Given the description of an element on the screen output the (x, y) to click on. 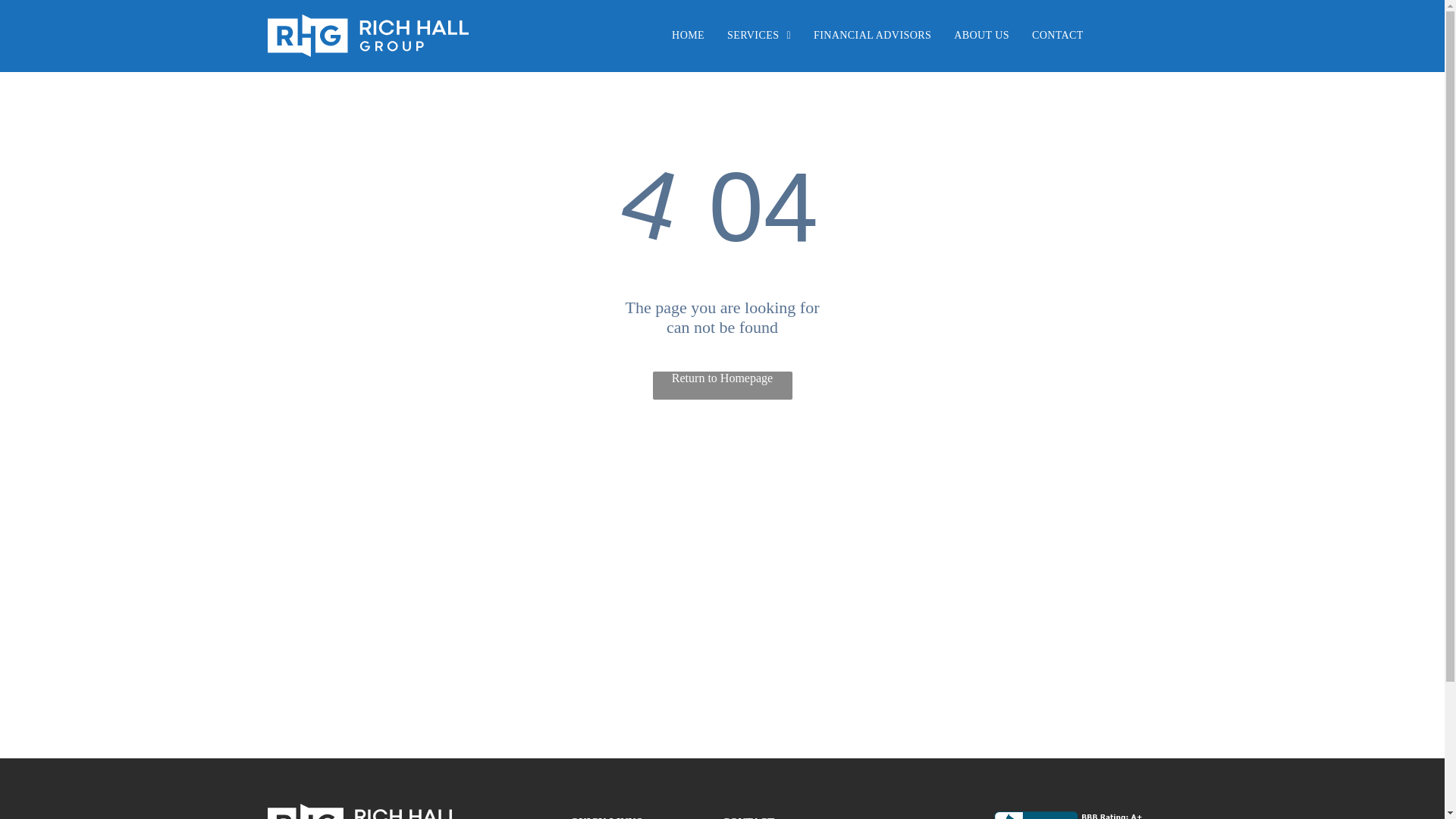
CONTACT (1057, 35)
ABOUT US (981, 35)
Return to Homepage (722, 385)
FINANCIAL ADVISORS (872, 35)
SERVICES (759, 35)
HOME (688, 35)
